Given the description of an element on the screen output the (x, y) to click on. 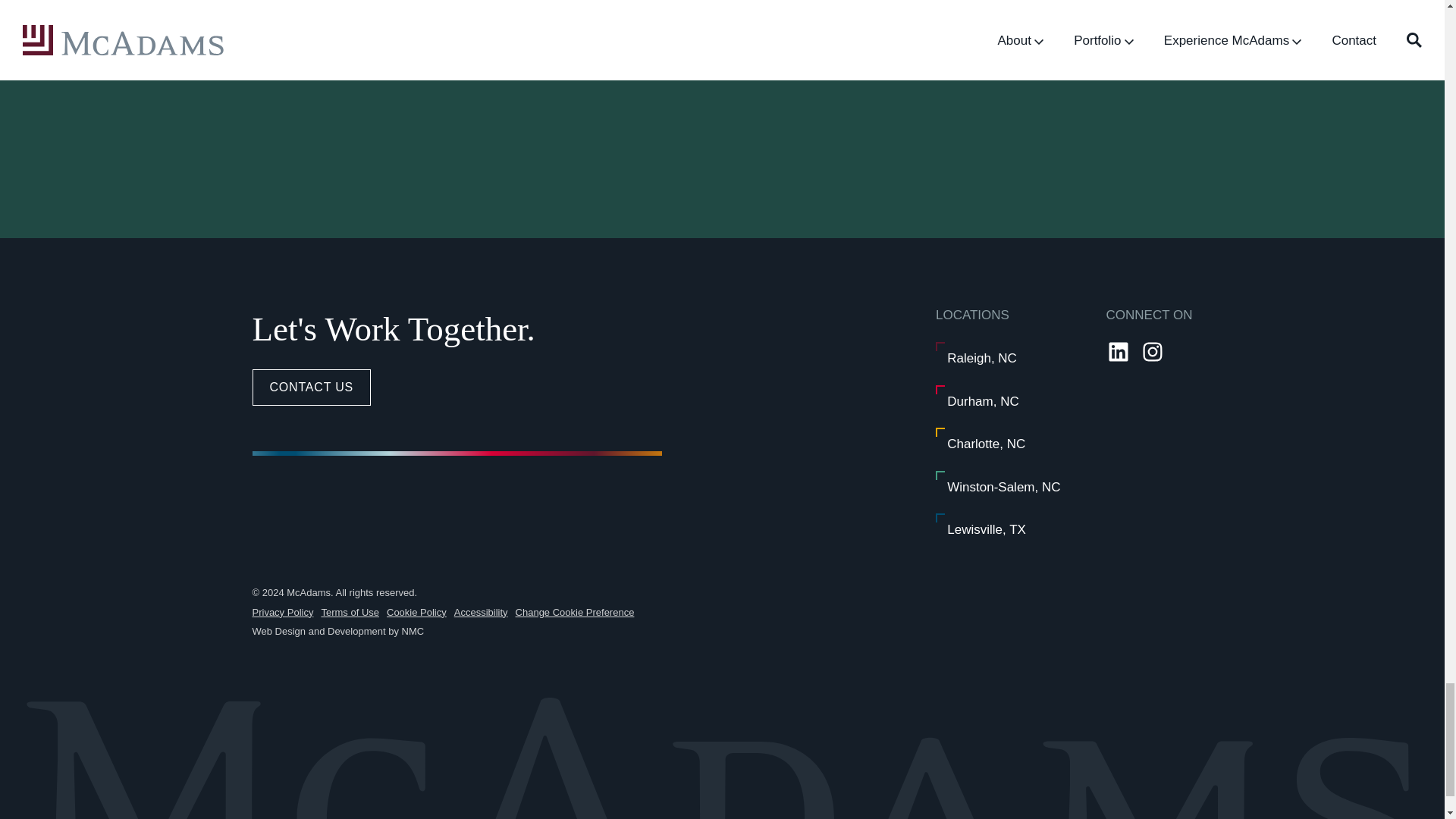
CONTACT US (311, 387)
Raleigh, NC (981, 358)
Durham, NC (982, 400)
Charlotte, NC (986, 443)
